Given the description of an element on the screen output the (x, y) to click on. 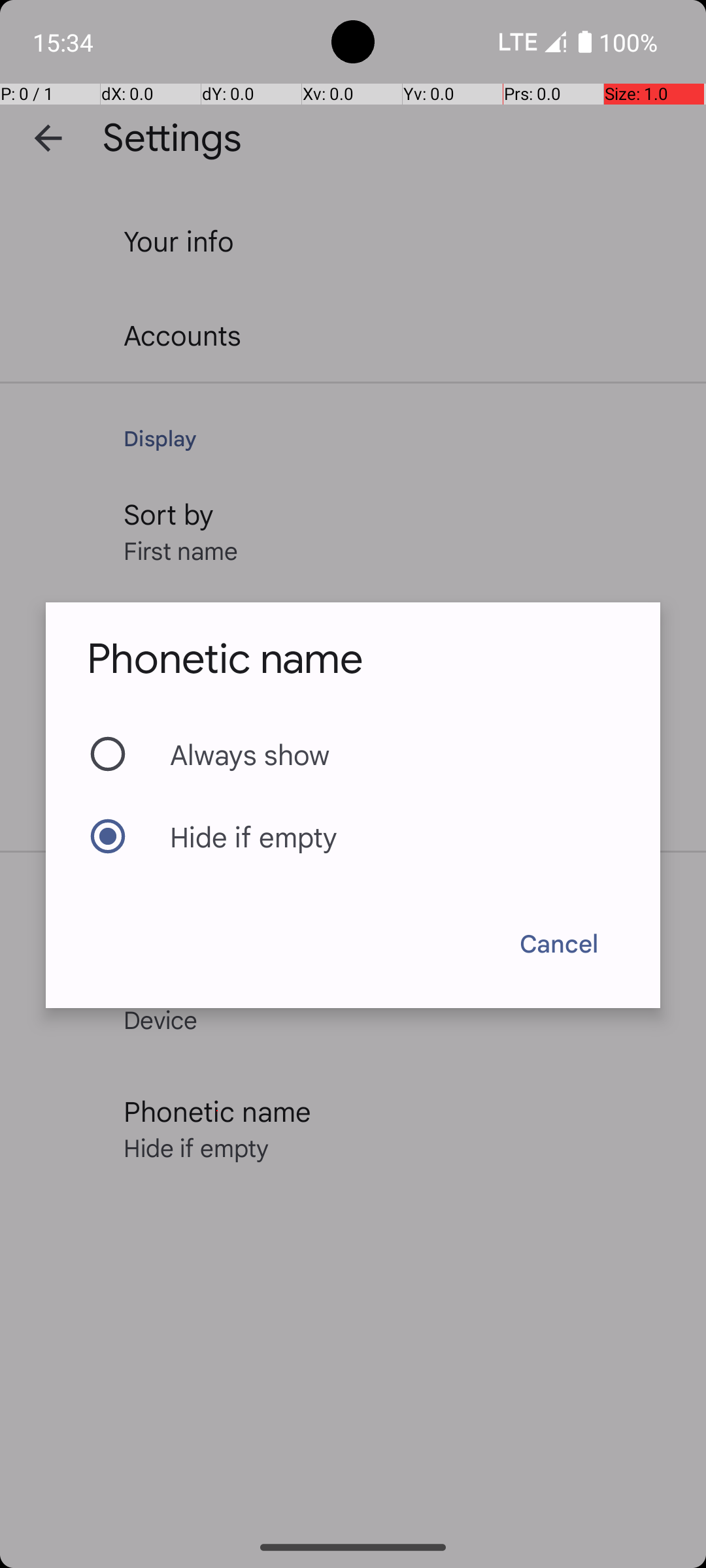
Phonetic name Element type: android.widget.TextView (224, 659)
Always show Element type: android.widget.CheckedTextView (352, 753)
Hide if empty Element type: android.widget.CheckedTextView (352, 836)
